Given the description of an element on the screen output the (x, y) to click on. 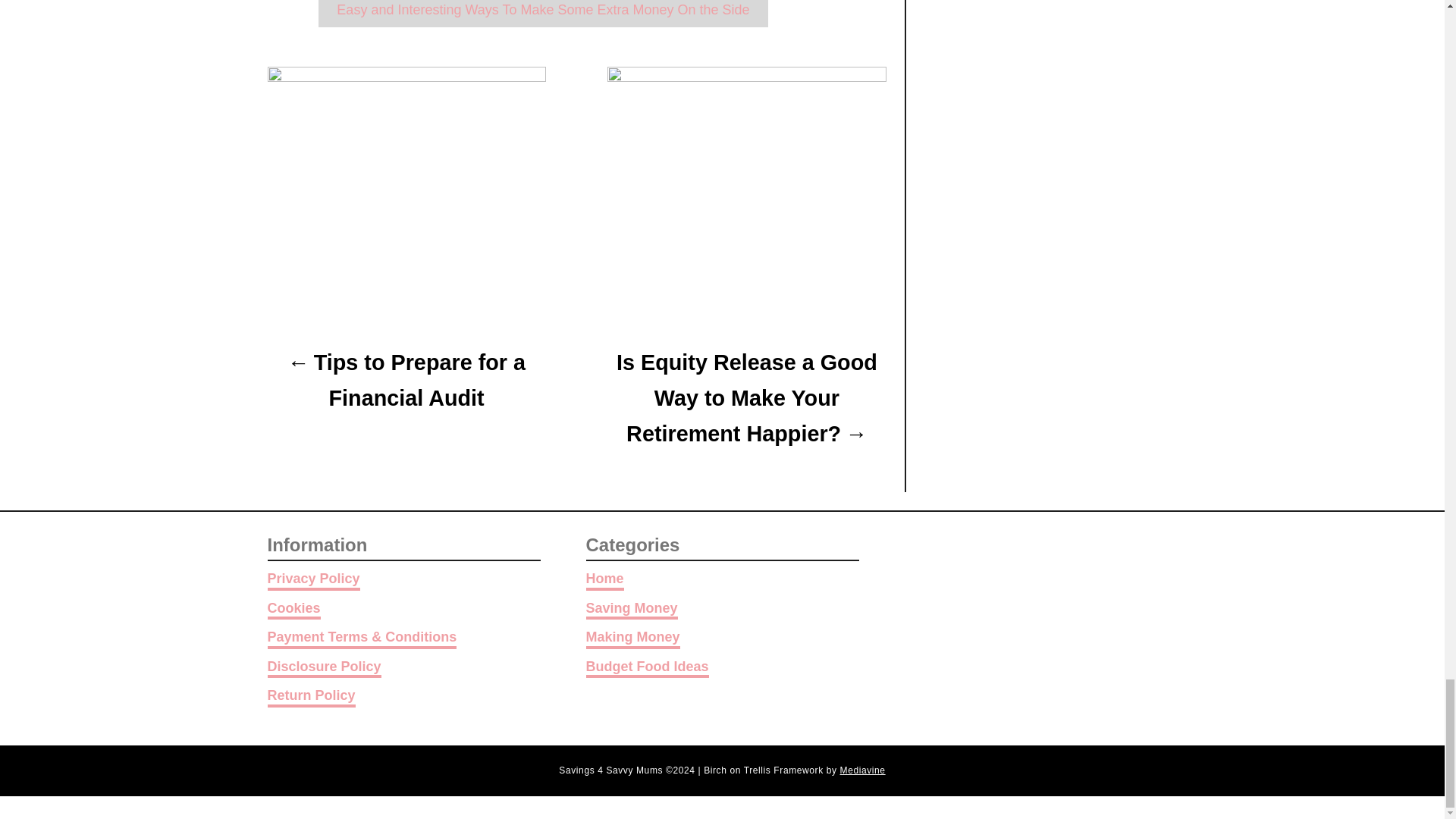
Cookies (293, 609)
Privacy Policy (312, 580)
Tips to Prepare for a Financial Audit (405, 380)
Home (604, 580)
Saving Money (631, 609)
Disclosure Policy (323, 668)
Return Policy (310, 697)
